Given the description of an element on the screen output the (x, y) to click on. 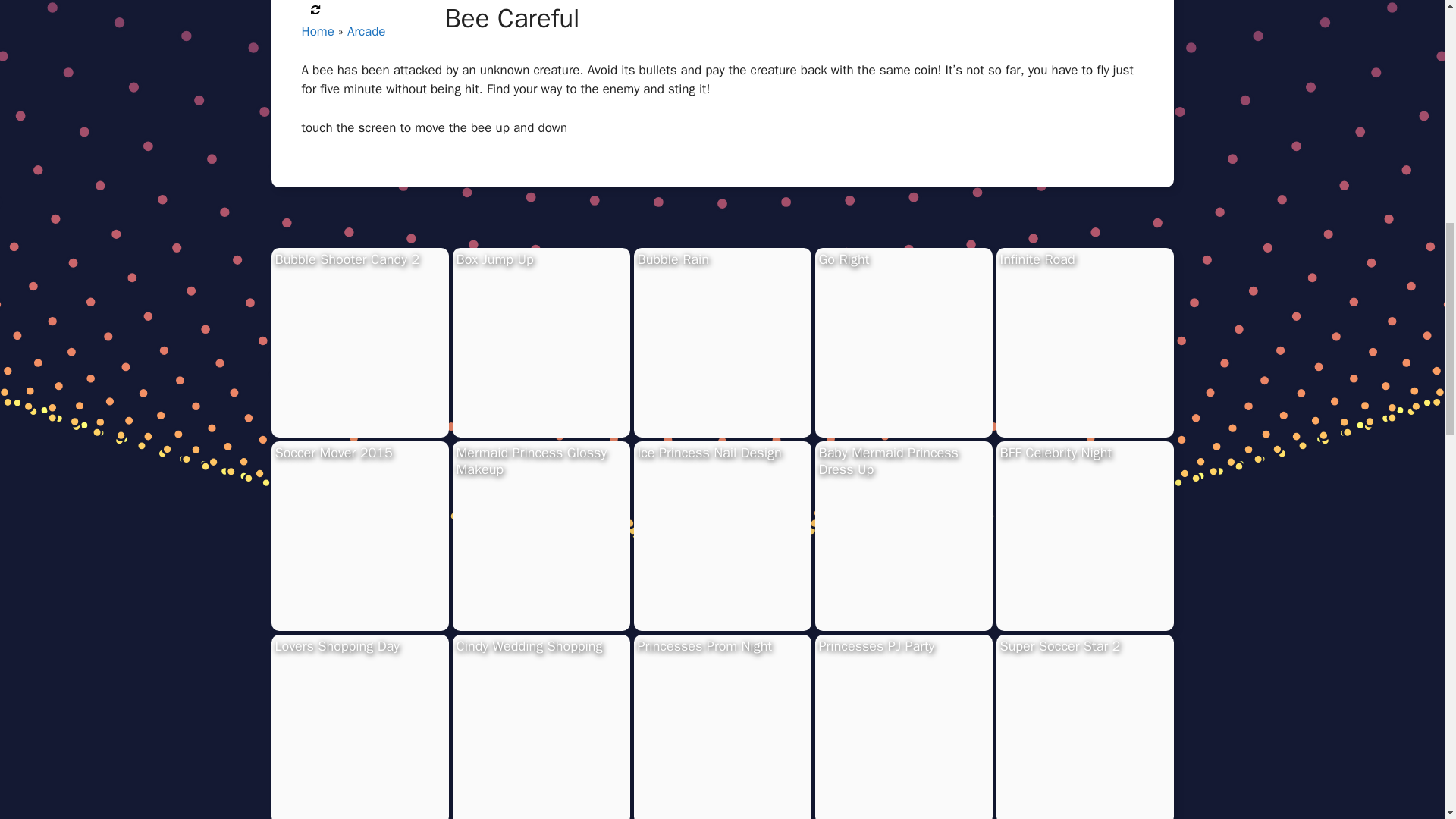
Go Right (843, 258)
Ice Princess Nail Design (708, 452)
Baby Mermaid Princess Dress Up (888, 460)
Box Jump Up (495, 258)
Soccer Mover 2015 (333, 452)
Arcade (366, 30)
Bubble Shooter Candy 2 (347, 258)
Bubble Rain (673, 258)
Mermaid Princess Glossy Makeup (532, 460)
Infinite Road (1036, 258)
Home (317, 30)
yasr-loader (314, 9)
